Given the description of an element on the screen output the (x, y) to click on. 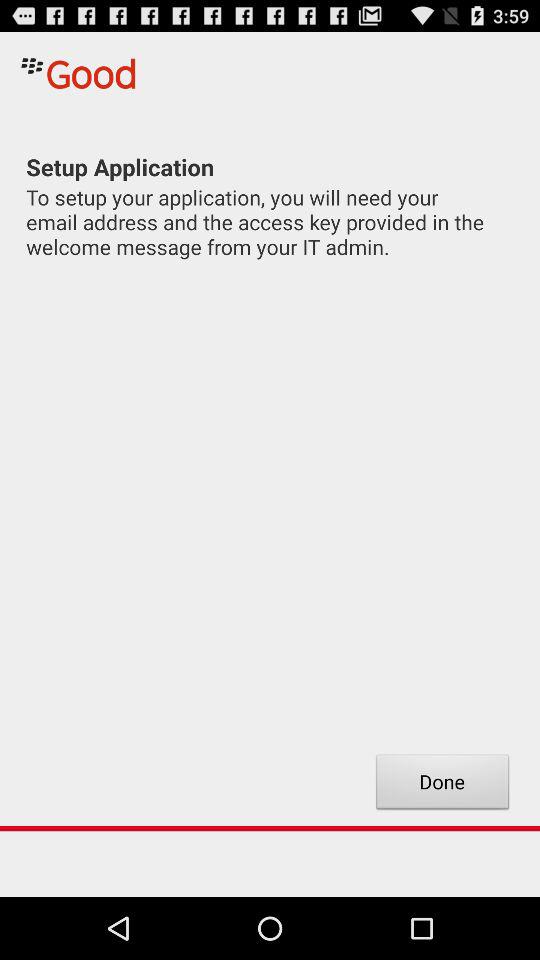
launch the done icon (442, 784)
